Given the description of an element on the screen output the (x, y) to click on. 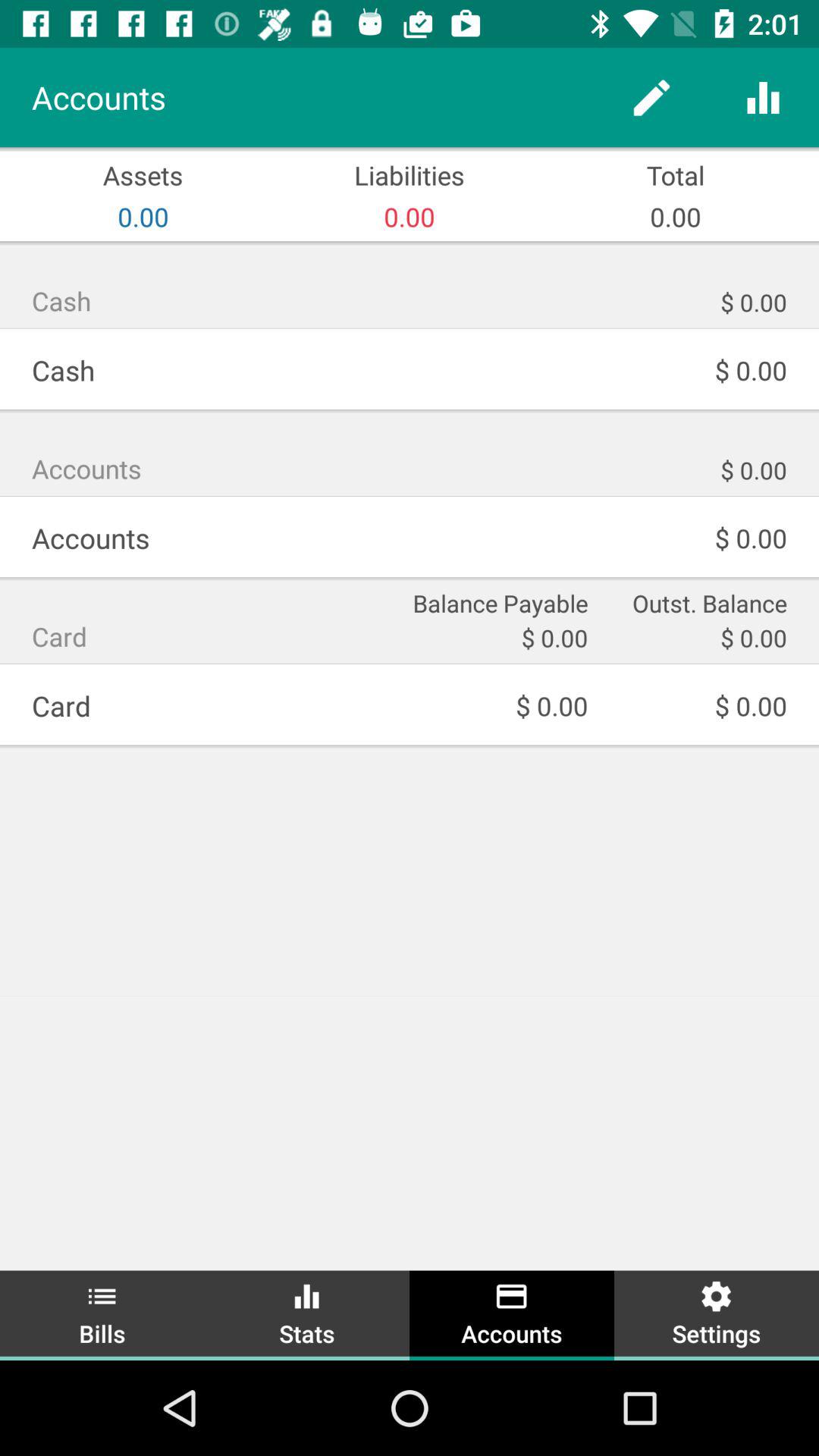
select icon to the right of balance payable item (697, 601)
